Given the description of an element on the screen output the (x, y) to click on. 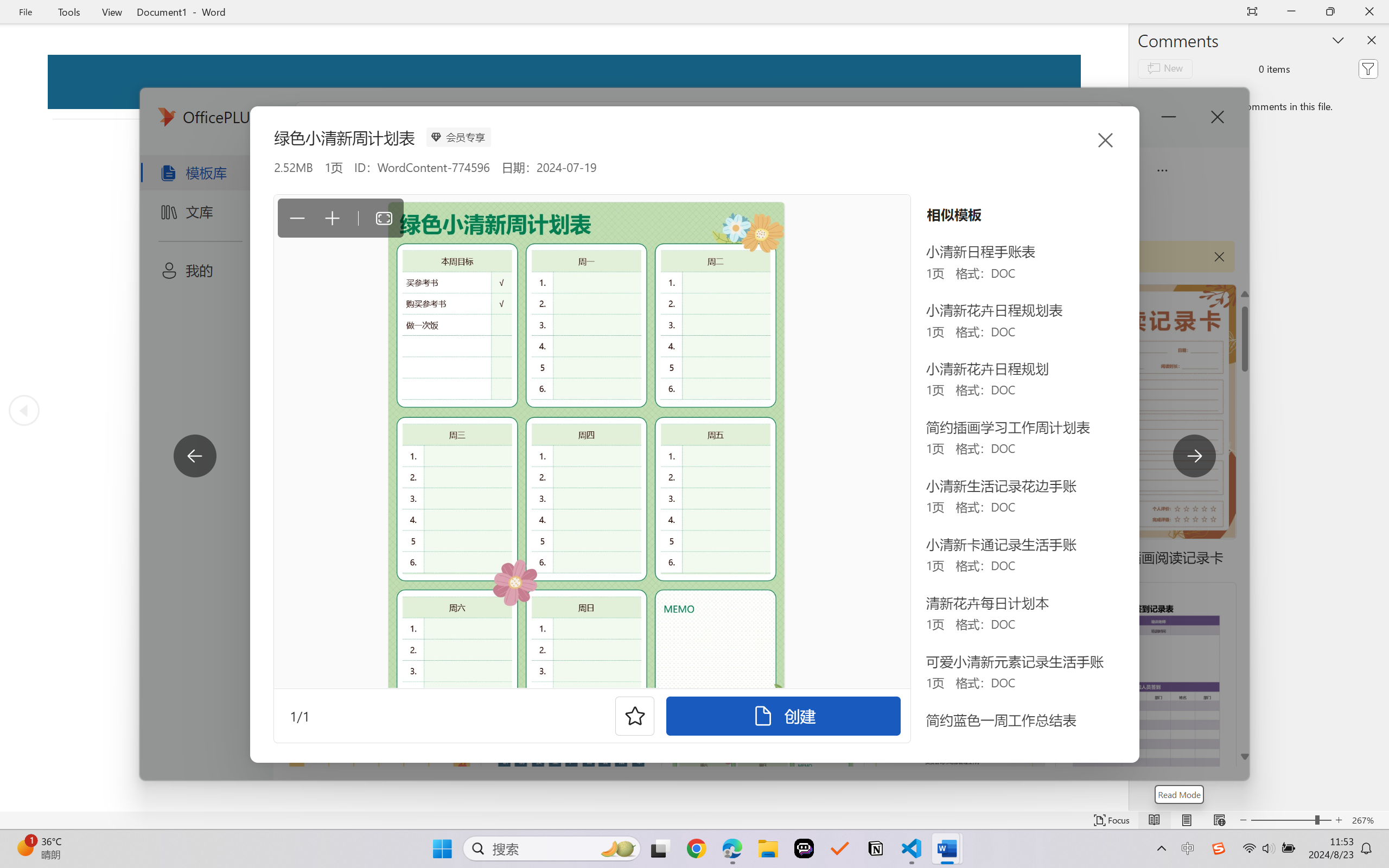
Text Size (1291, 819)
